Given the description of an element on the screen output the (x, y) to click on. 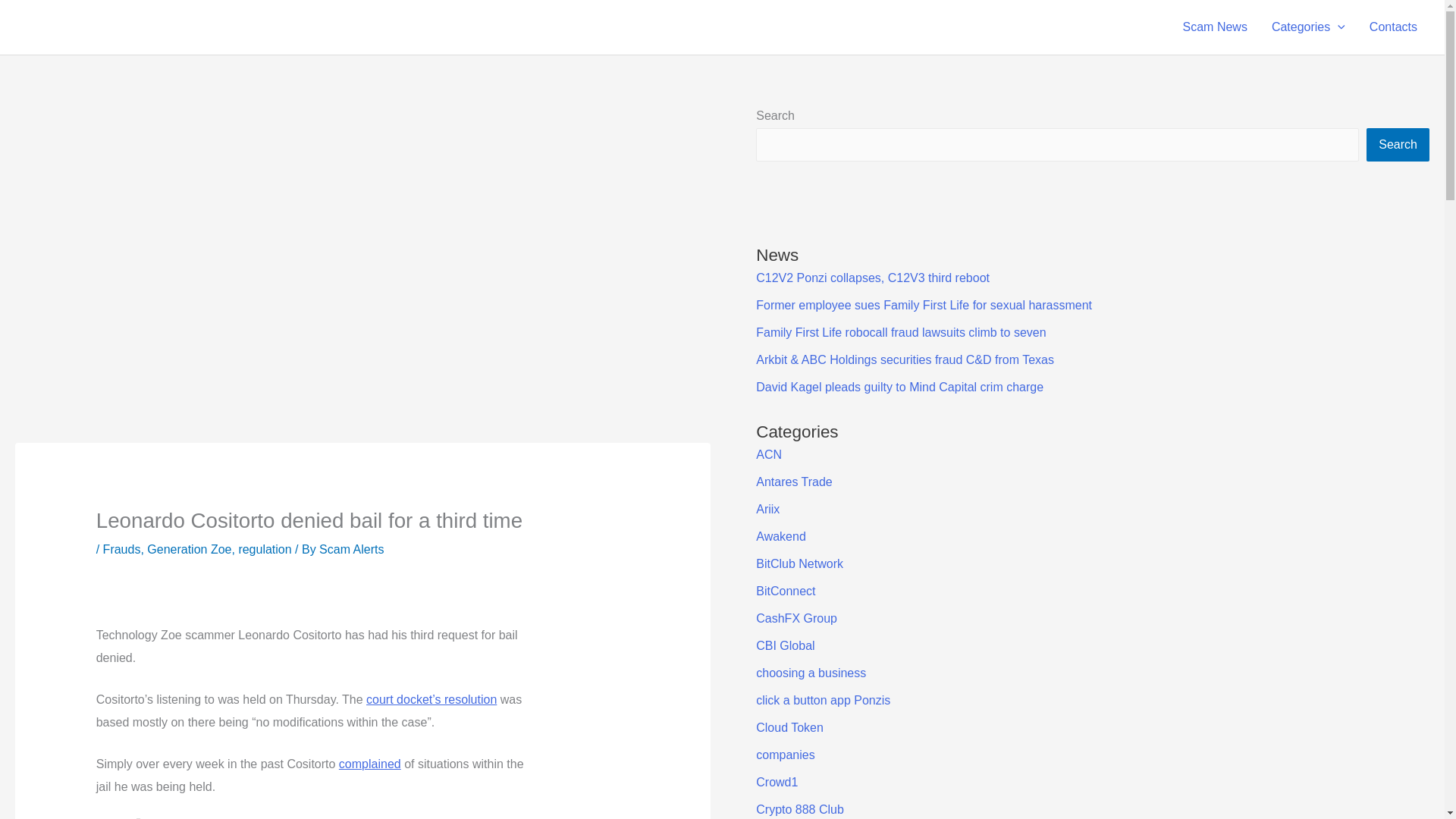
Search (1398, 144)
Scam Alerts (351, 549)
click a button app Ponzis (822, 699)
Contacts (1392, 27)
C12V2 Ponzi collapses, C12V3 third reboot (872, 277)
Former employee sues Family First Life for sexual harassment (923, 305)
David Kagel pleads guilty to Mind Capital crim charge (899, 386)
Antares Trade (793, 481)
View all posts by Scam Alerts (351, 549)
CashFX Group (796, 617)
